Given the description of an element on the screen output the (x, y) to click on. 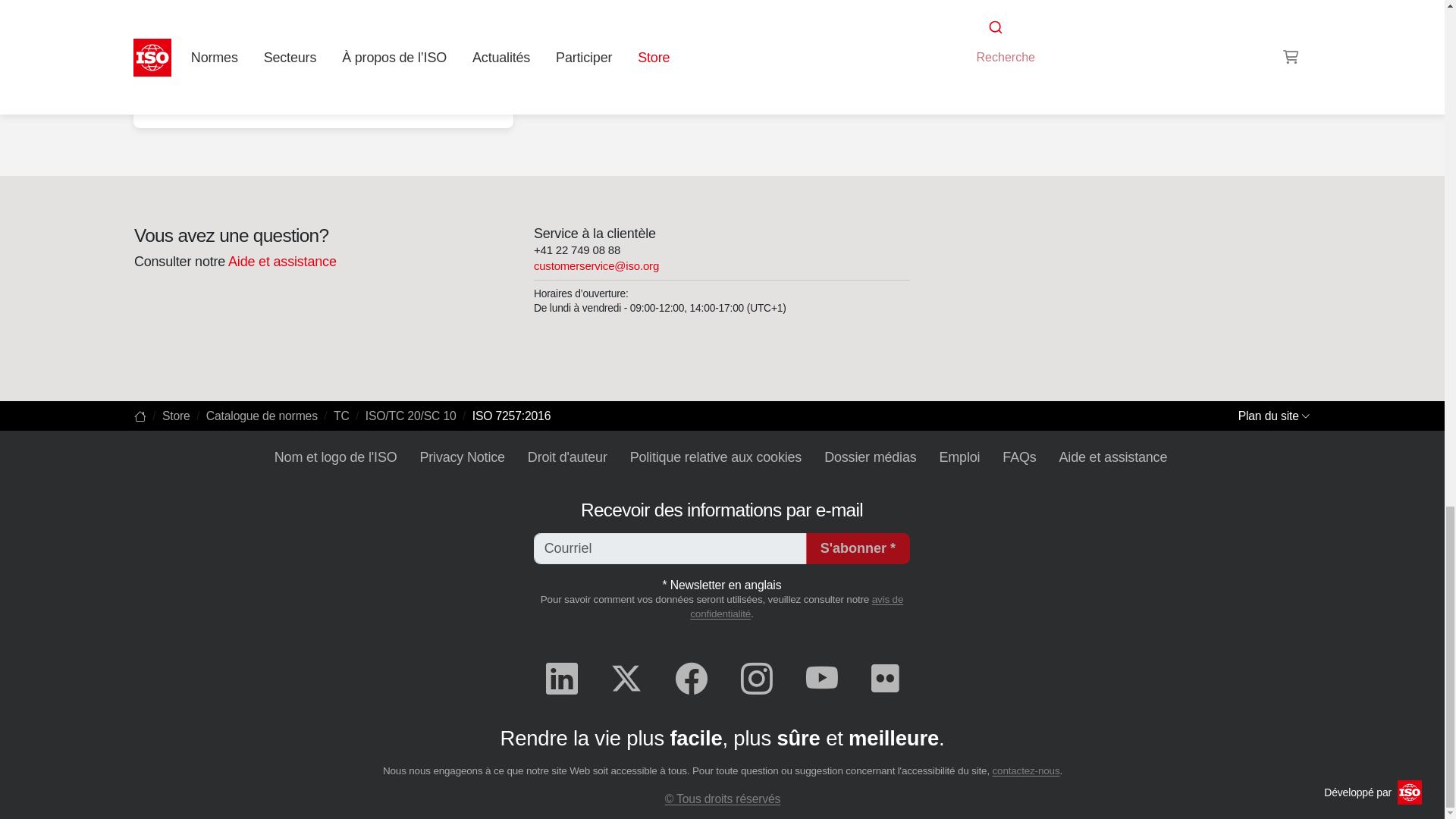
Industrie, innovation et infrastructure (323, 103)
